Given the description of an element on the screen output the (x, y) to click on. 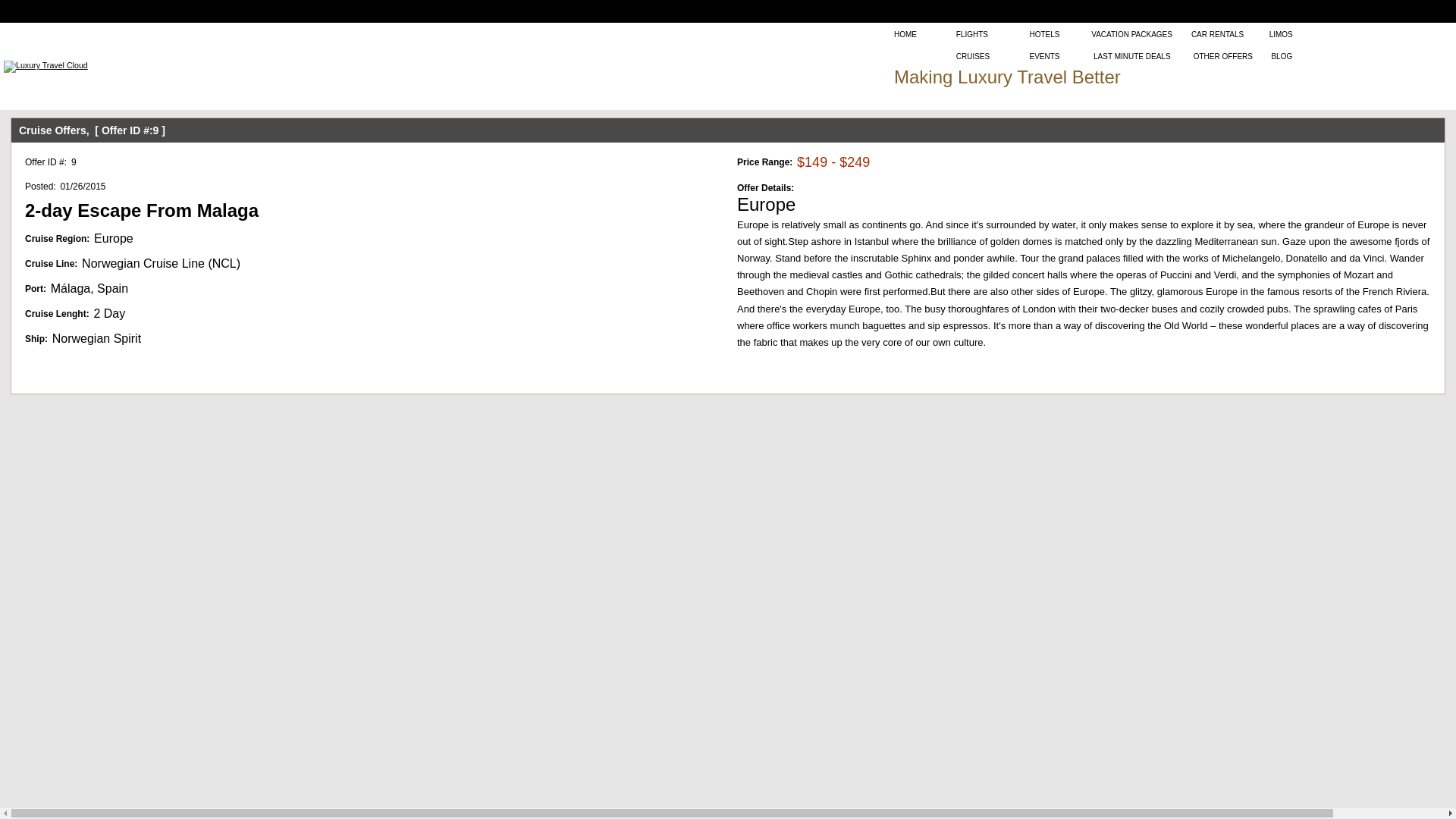
HOME (905, 34)
HOTELS (1044, 34)
CAR RENTALS (1217, 34)
EVENTS (1044, 55)
OTHER OFFERS (1222, 55)
LAST MINUTE DEALS (1131, 55)
FLIGHTS (972, 34)
VACATION PACKAGES (1131, 34)
BLOG (1281, 55)
LIMOS (1280, 34)
